Given the description of an element on the screen output the (x, y) to click on. 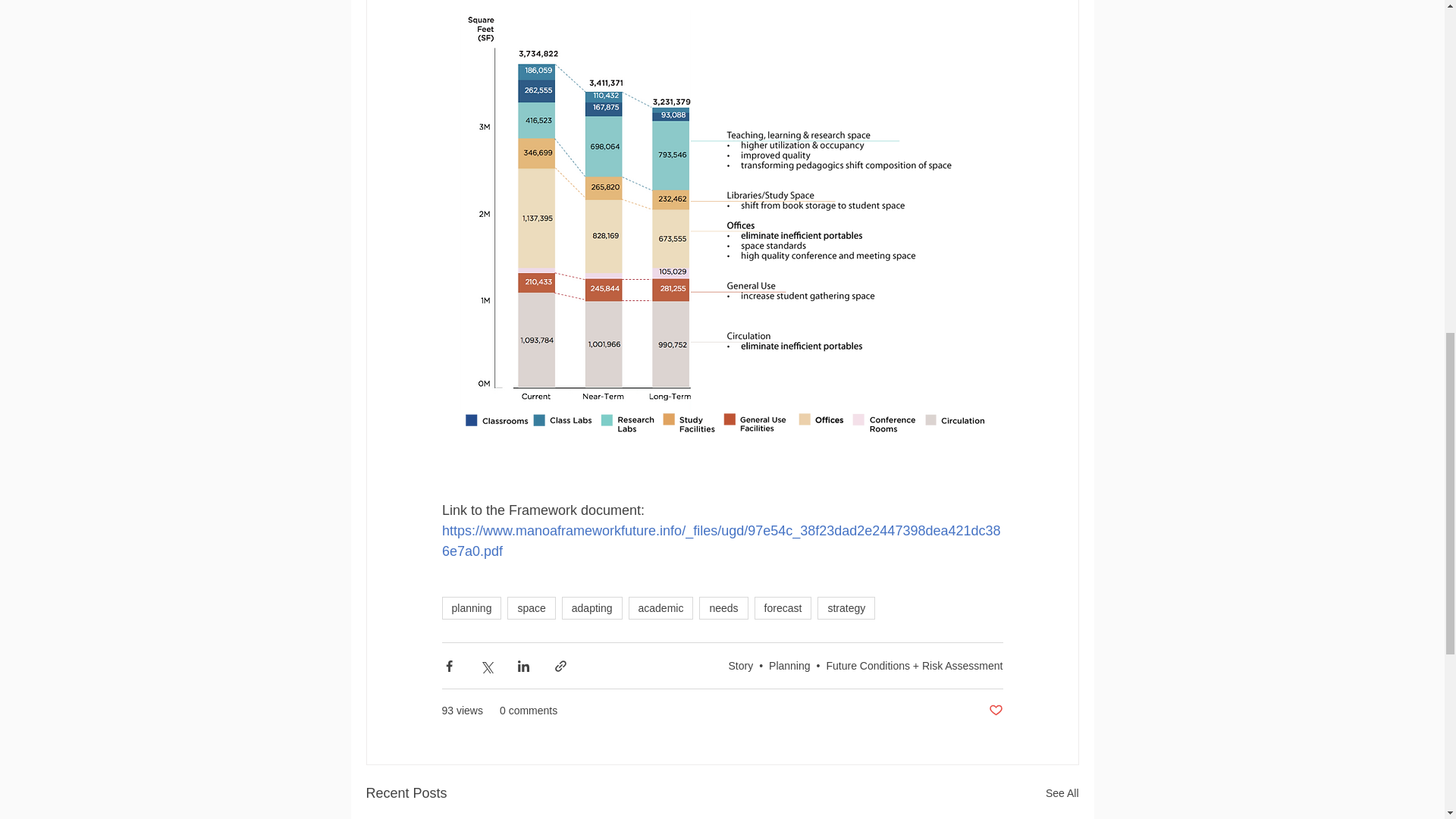
See All (1061, 793)
space (530, 608)
academic (661, 608)
Post not marked as liked (995, 710)
adapting (592, 608)
Planning (789, 665)
planning (470, 608)
Story (740, 665)
forecast (783, 608)
strategy (845, 608)
